Given the description of an element on the screen output the (x, y) to click on. 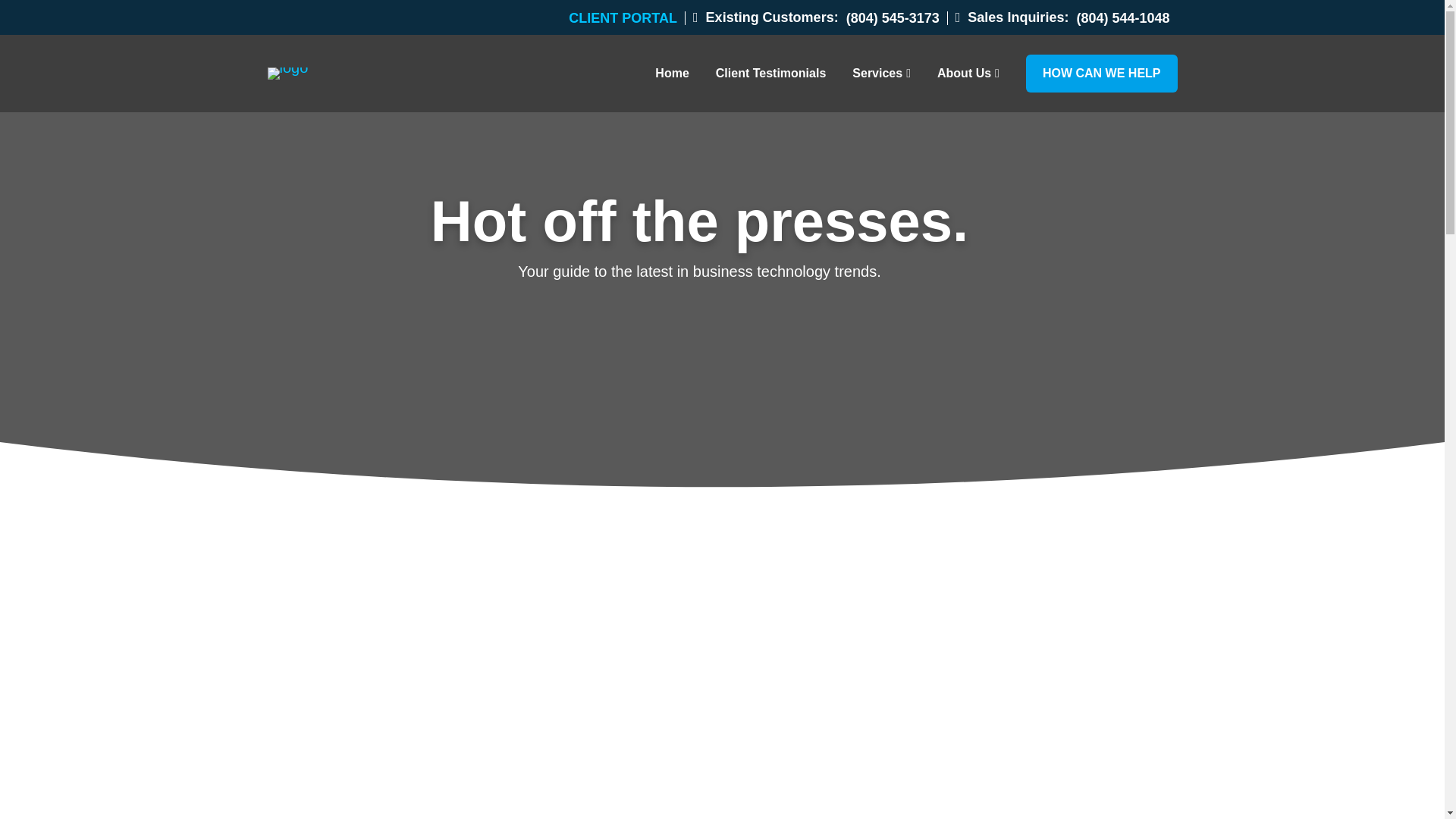
HOW CAN WE HELP (1101, 73)
Sales Inquiries: (1011, 16)
CLIENT PORTAL (627, 18)
Client Testimonials (771, 73)
logo (286, 73)
About Us (967, 73)
Existing Customers: (765, 16)
Services (881, 73)
